Given the description of an element on the screen output the (x, y) to click on. 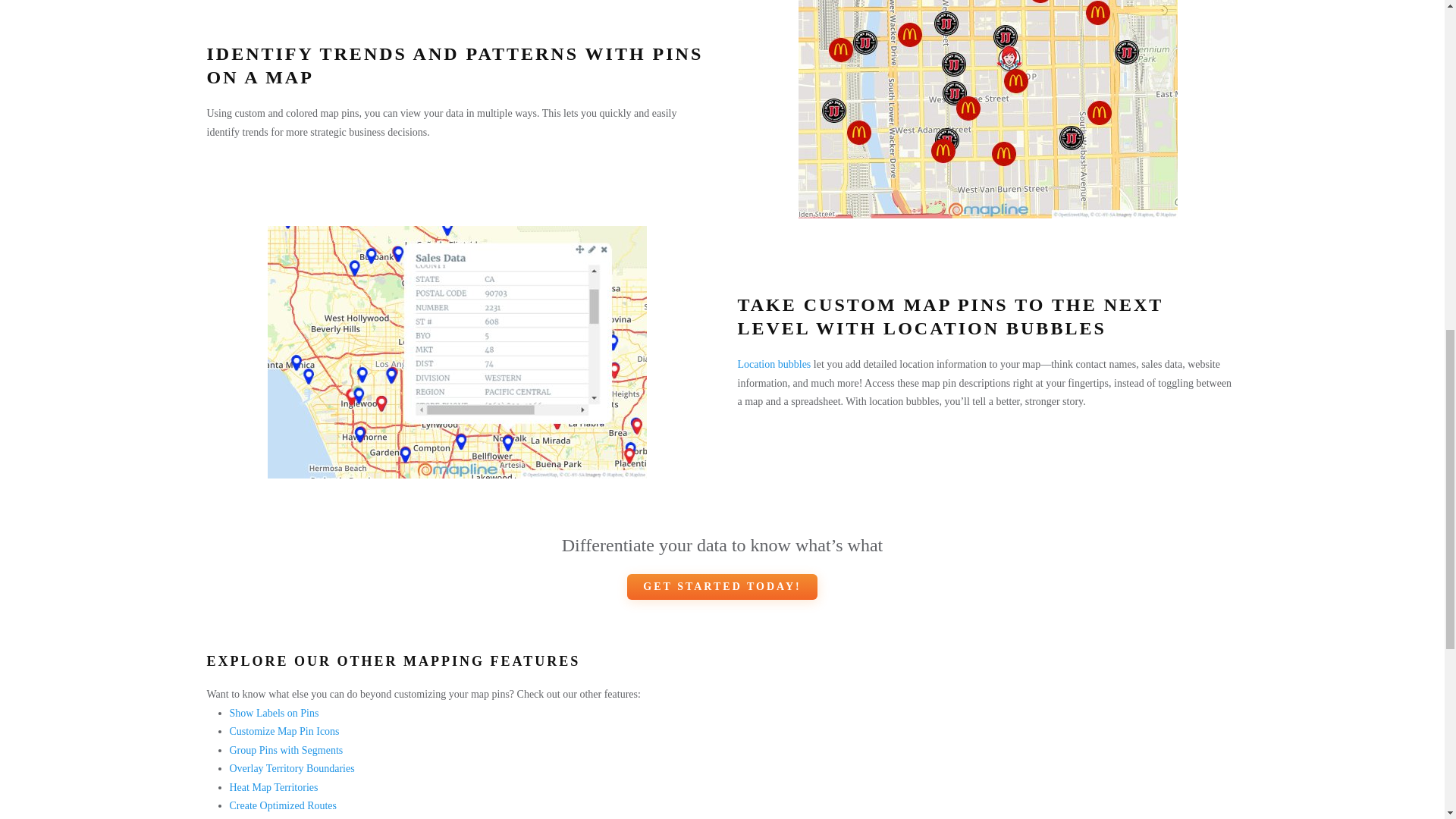
Customize Map Pin Icons (283, 731)
Show Labels on Pins (273, 713)
Location bubbles (773, 364)
GET STARTED TODAY! (721, 586)
